Given the description of an element on the screen output the (x, y) to click on. 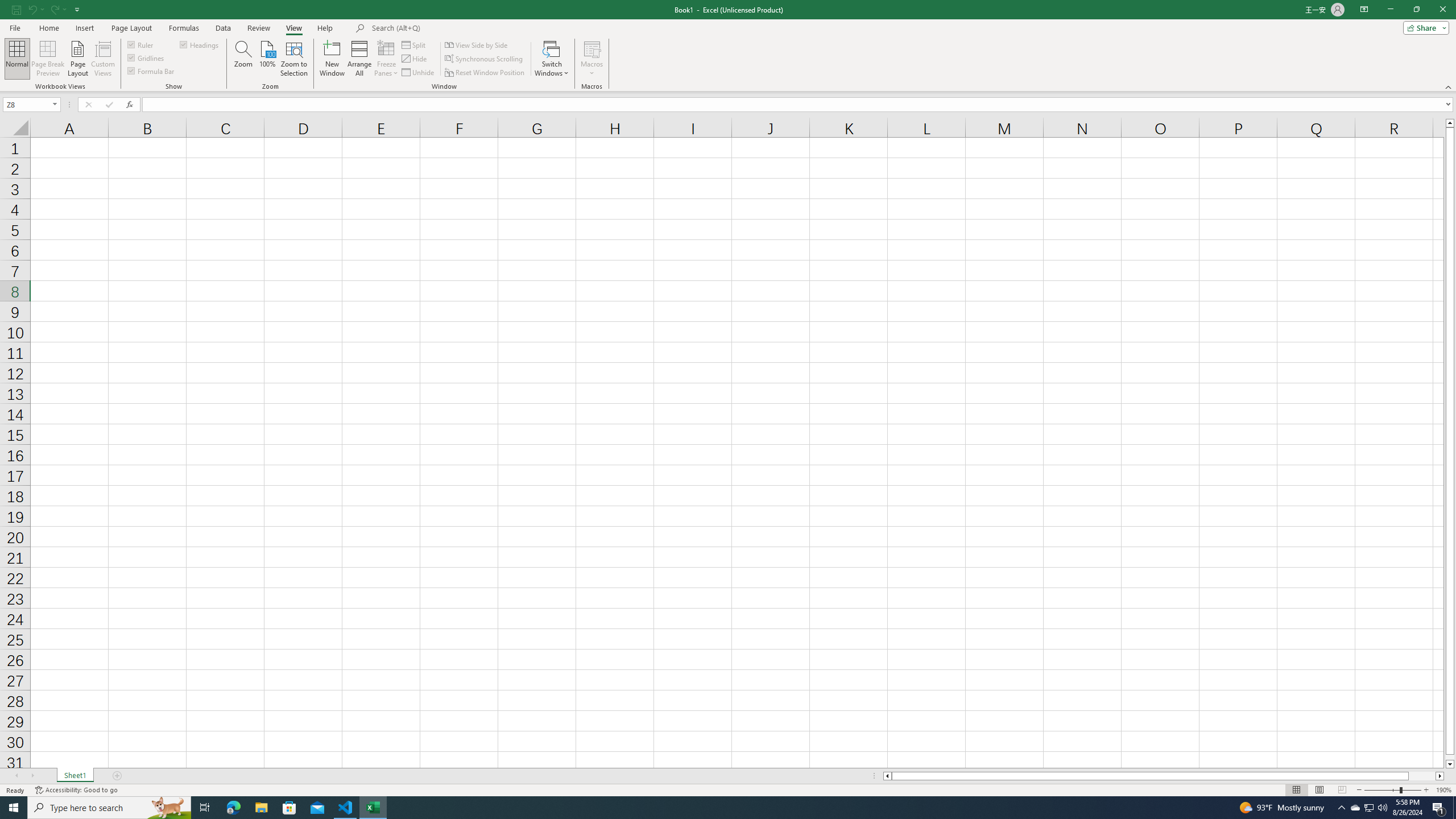
Ruler (141, 44)
View Macros (591, 48)
Split (414, 44)
